Given the description of an element on the screen output the (x, y) to click on. 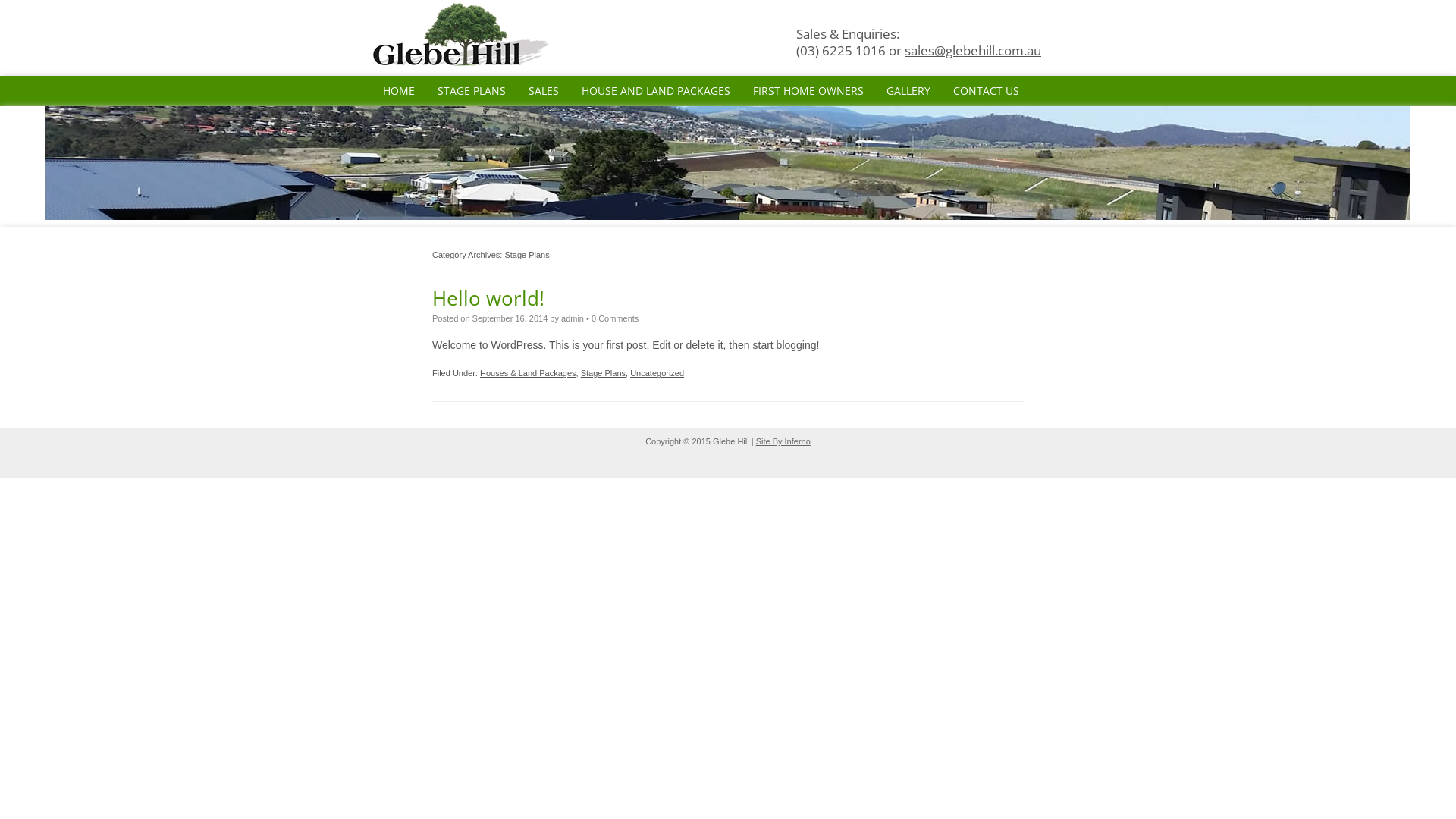
SALES Element type: text (543, 90)
Houses & Land Packages Element type: text (528, 372)
sales@glebehill.com.au Element type: text (972, 50)
HOUSE AND LAND PACKAGES Element type: text (655, 90)
admin Element type: text (572, 318)
FIRST HOME OWNERS Element type: text (808, 90)
HOME Element type: text (398, 90)
Hello world! Element type: text (488, 297)
0 Comments Element type: text (614, 318)
Uncategorized Element type: text (657, 372)
GALLERY Element type: text (908, 90)
Stage Plans Element type: text (602, 372)
STAGE PLANS Element type: text (471, 90)
Site By Inferno Element type: text (783, 440)
CONTACT US Element type: text (985, 90)
